Given the description of an element on the screen output the (x, y) to click on. 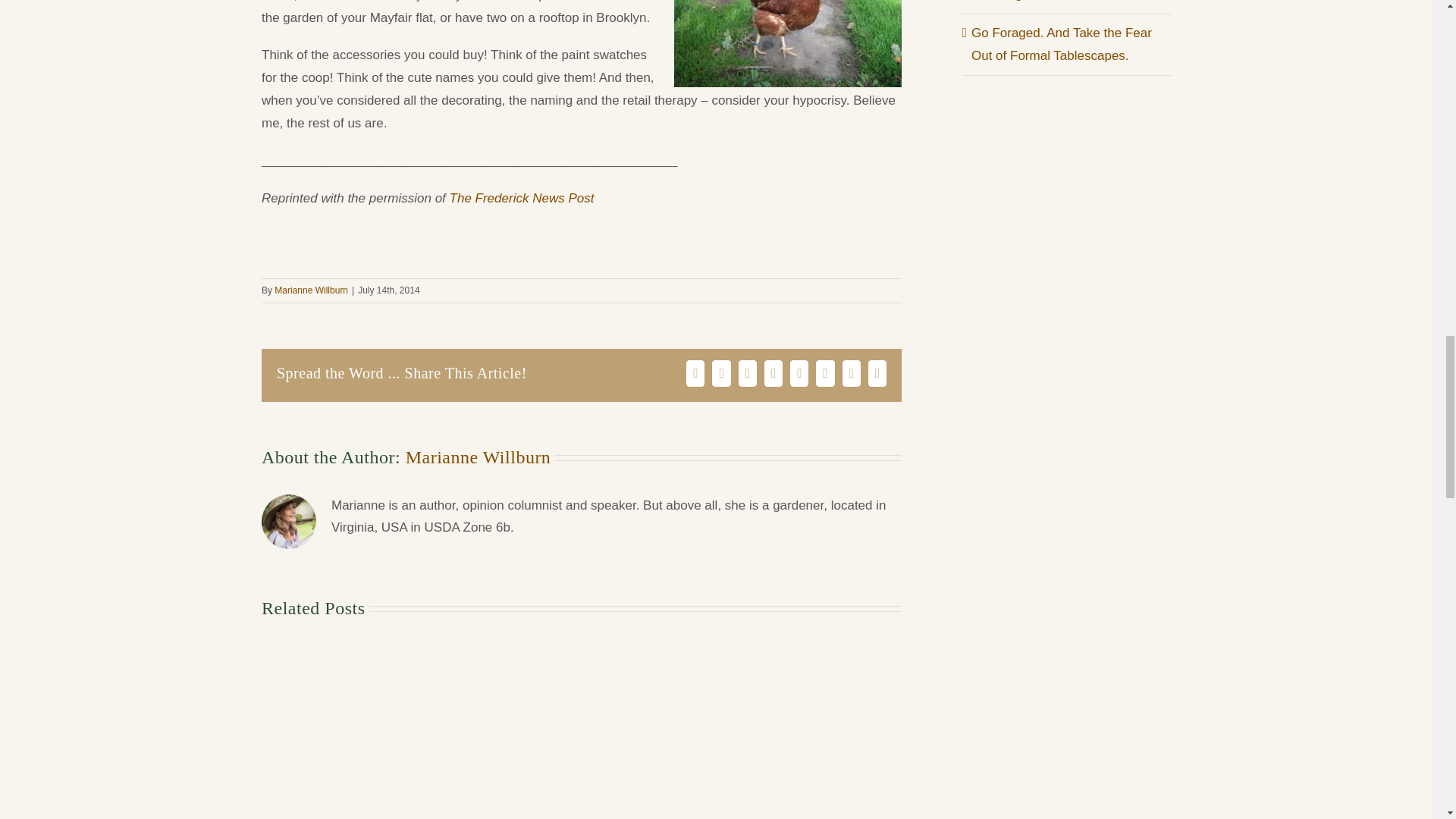
Posts by Marianne Willburn (311, 290)
Posts by Marianne Willburn (478, 456)
The Frederick News Post (521, 197)
Marianne Willburn (311, 290)
